Given the description of an element on the screen output the (x, y) to click on. 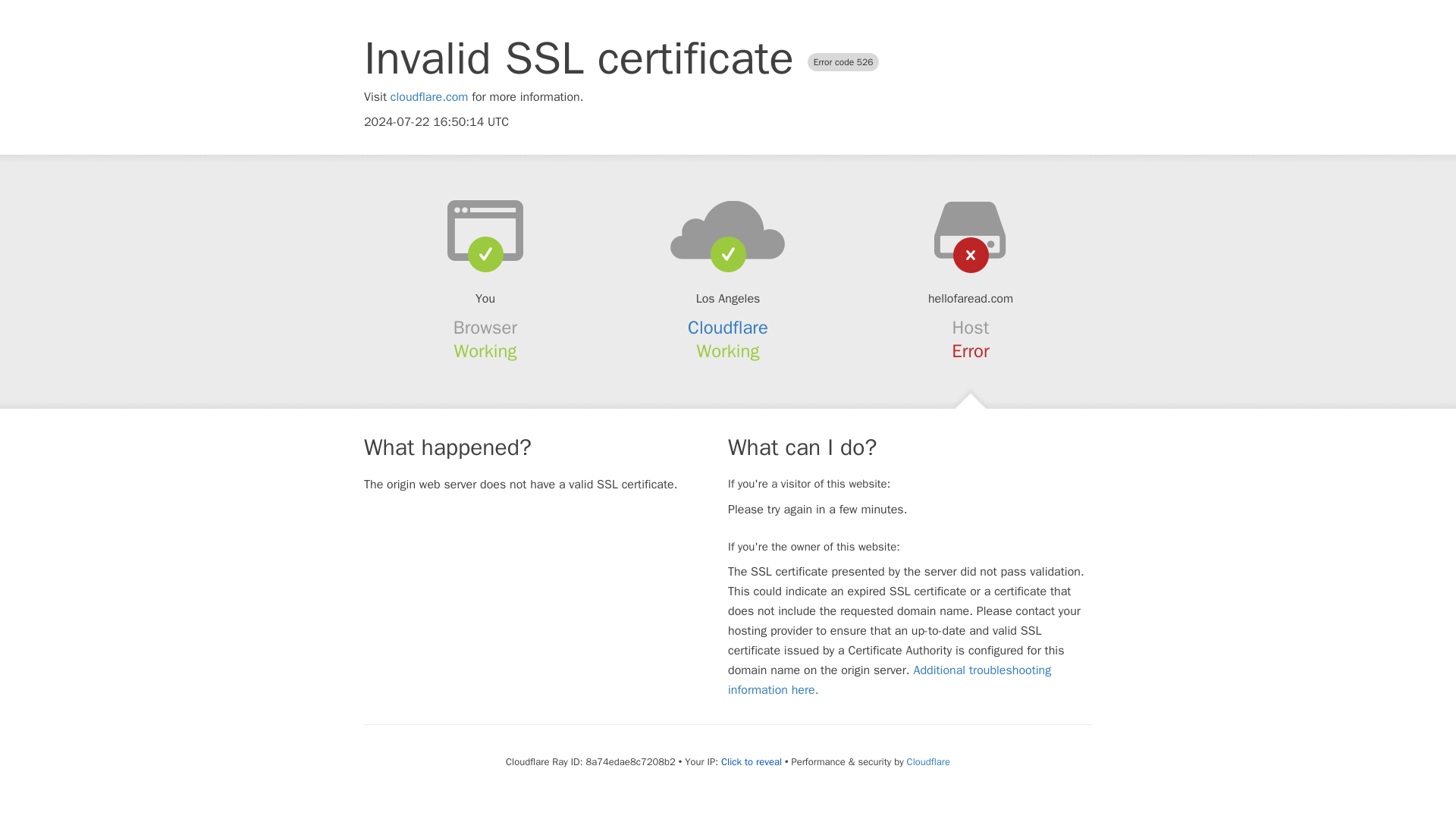
Additional troubleshooting information here. (889, 679)
cloudflare.com (429, 96)
Cloudflare (928, 761)
Cloudflare (727, 327)
Click to reveal (750, 762)
